Given the description of an element on the screen output the (x, y) to click on. 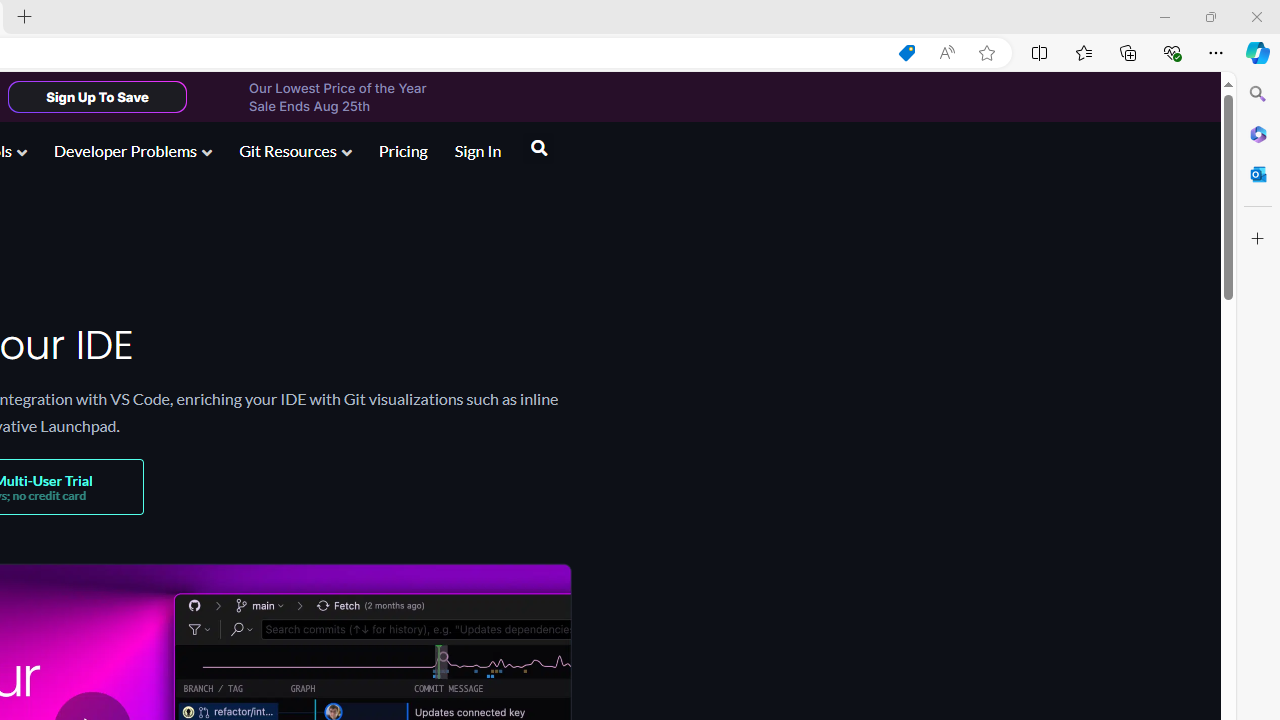
Sign In (477, 150)
